Given the description of an element on the screen output the (x, y) to click on. 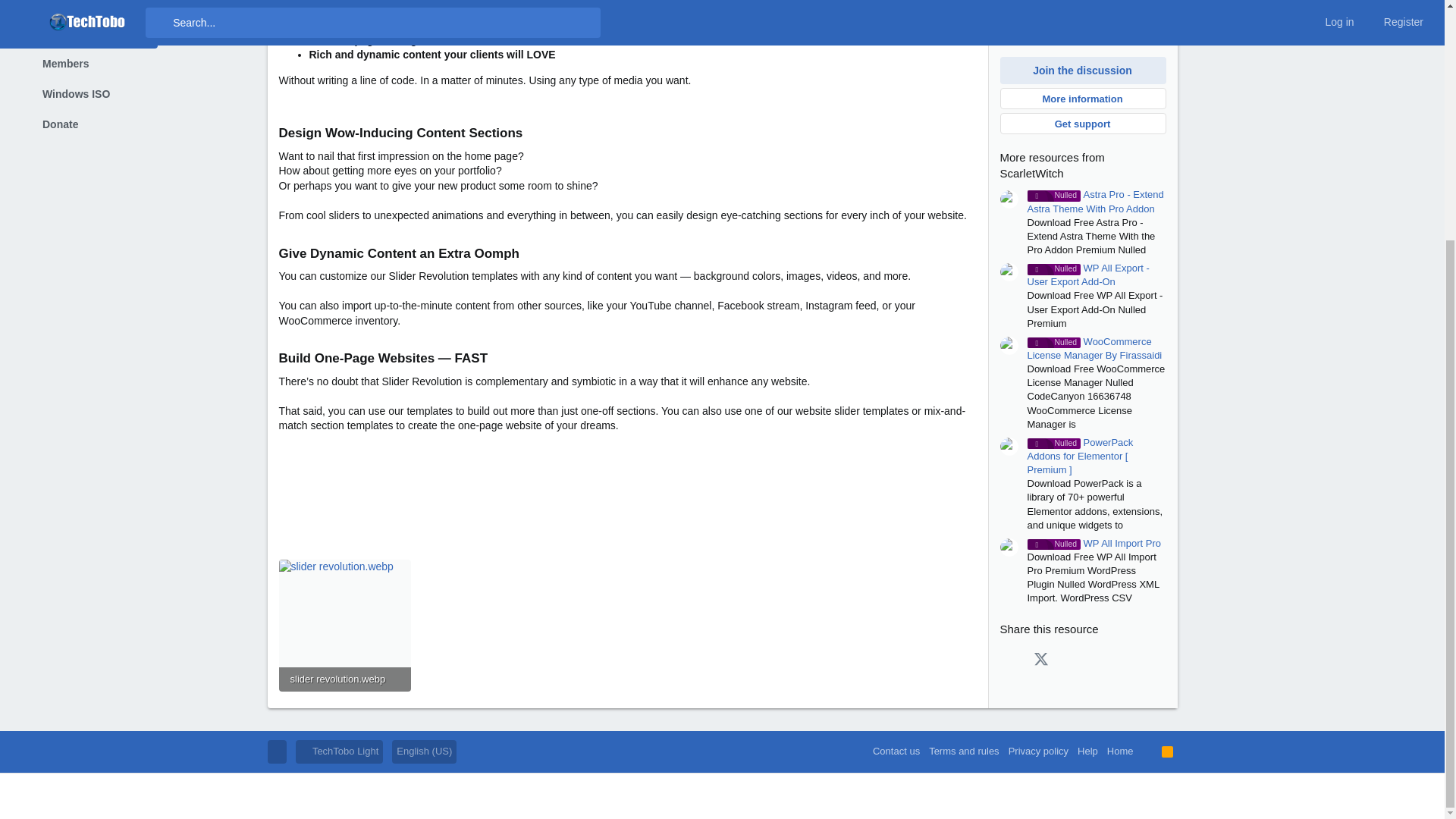
slider revolution.webp (343, 679)
